Given the description of an element on the screen output the (x, y) to click on. 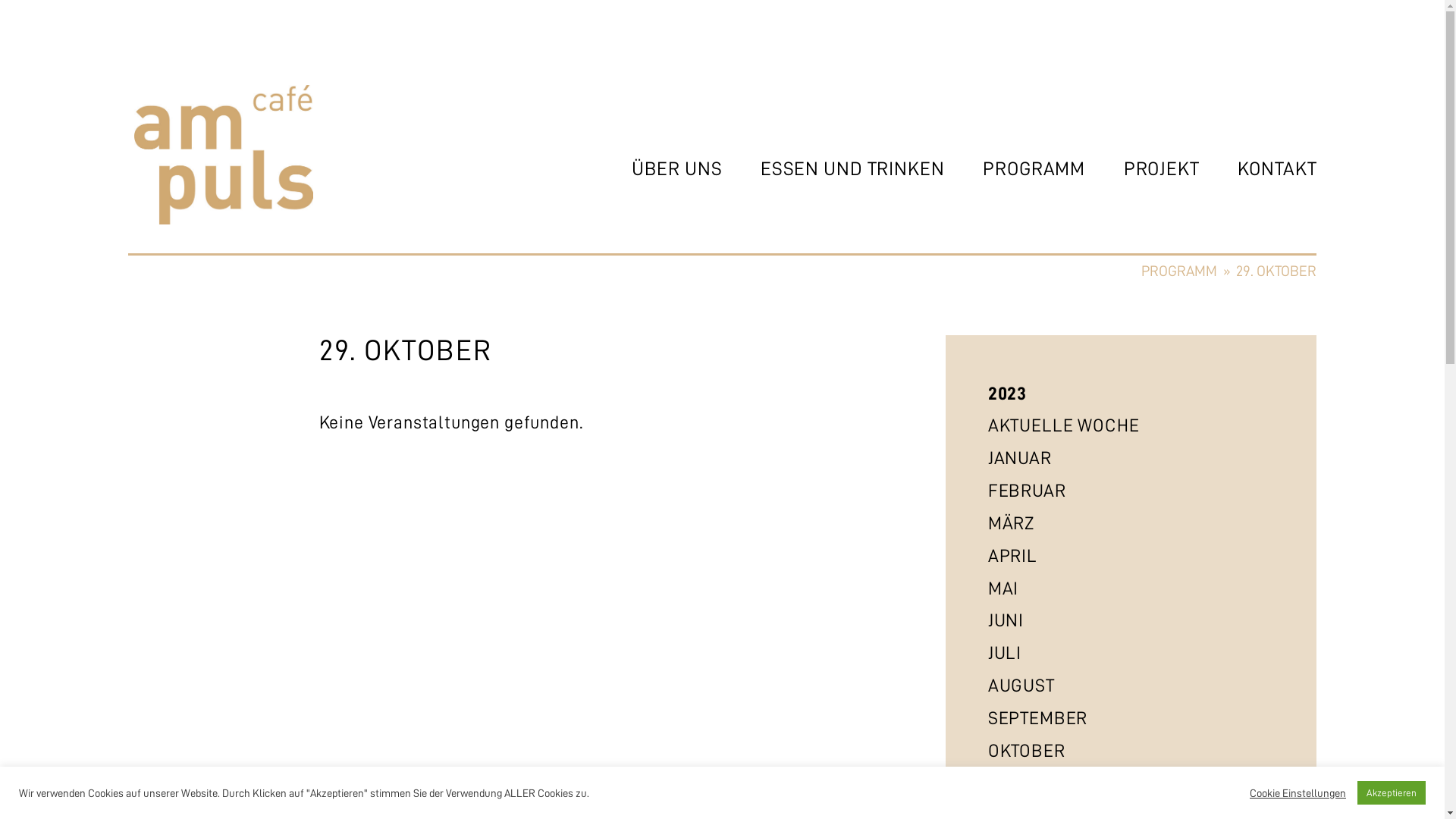
NOVEMBER Element type: text (1034, 782)
JUNI Element type: text (1005, 620)
OKTOBER Element type: text (1026, 750)
Akzeptieren Element type: text (1391, 792)
Cafe am Puls Element type: text (182, 282)
AKTUELLE WOCHE Element type: text (1063, 425)
JULI Element type: text (1004, 653)
SEPTEMBER Element type: text (1038, 718)
PROJEKT Element type: text (1142, 168)
AUGUST Element type: text (1021, 685)
ESSEN UND TRINKEN Element type: text (832, 168)
Cookie Einstellungen Element type: text (1297, 792)
APRIL Element type: text (1012, 555)
MAI Element type: text (1003, 588)
FEBRUAR Element type: text (1027, 490)
KONTAKT Element type: text (1258, 168)
JANUAR Element type: text (1019, 458)
PROGRAMM Element type: text (1179, 270)
29. OKTOBER Element type: text (1276, 270)
PROGRAMM Element type: text (1014, 168)
